Given the description of an element on the screen output the (x, y) to click on. 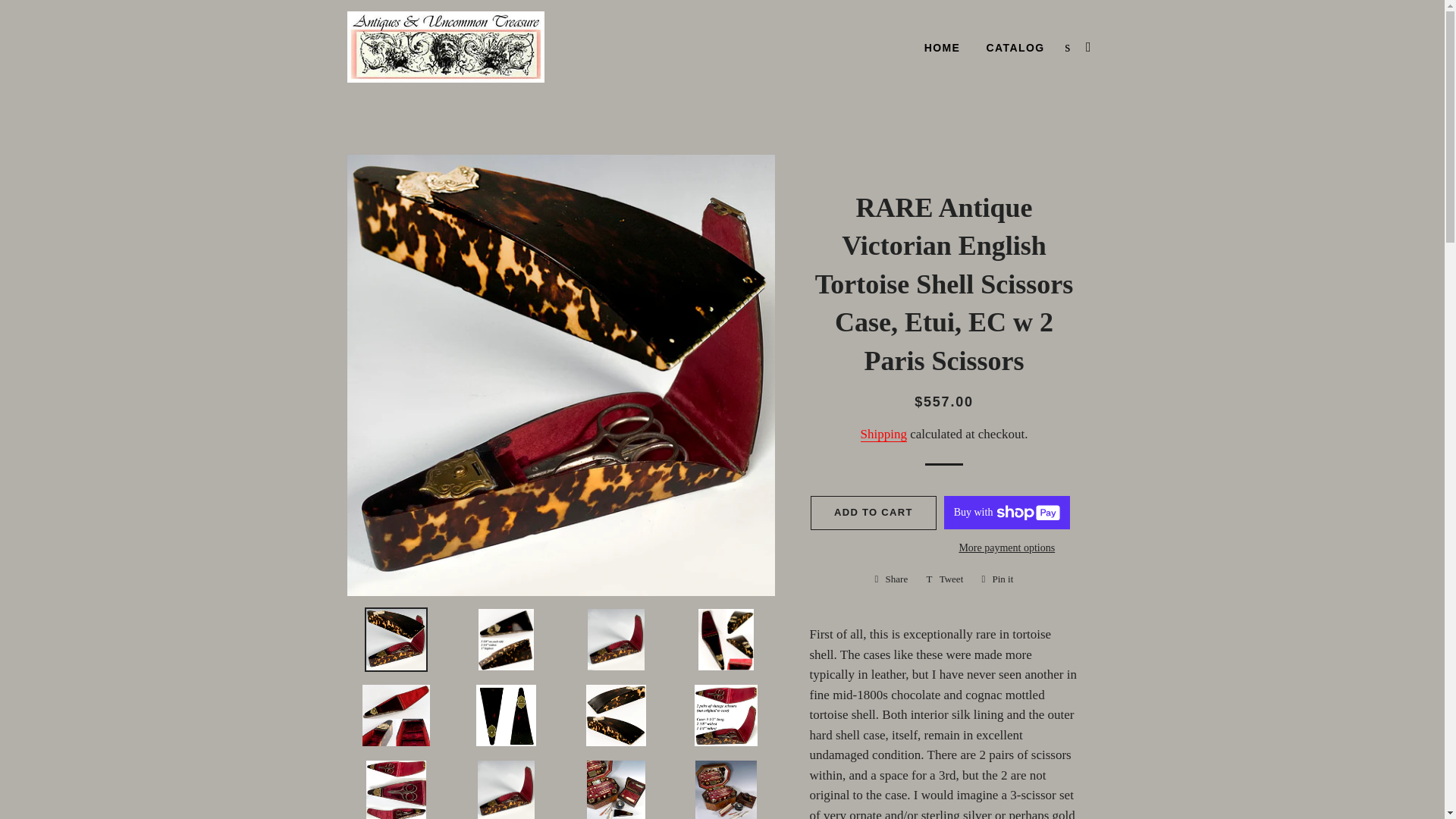
CATALOG (891, 579)
Pin on Pinterest (944, 579)
ADD TO CART (1016, 47)
Tweet on Twitter (997, 579)
HOME (997, 579)
Shipping (873, 512)
More payment options (944, 579)
Share on Facebook (942, 47)
